Given the description of an element on the screen output the (x, y) to click on. 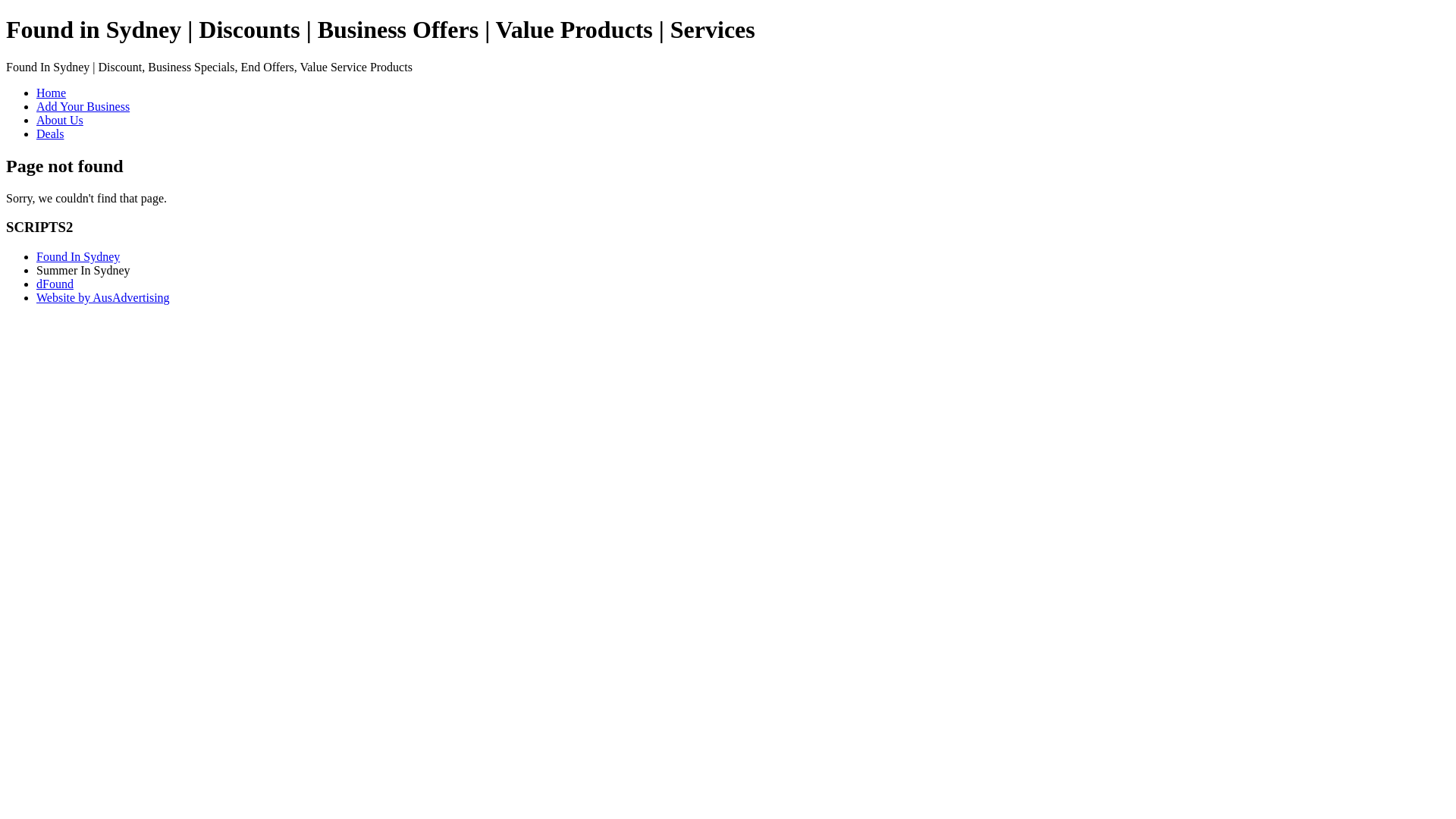
Add Your Business Element type: text (82, 106)
Deals Element type: text (49, 133)
Website by AusAdvertising Element type: text (102, 297)
About Us Element type: text (59, 119)
dFound Element type: text (54, 283)
Home Element type: text (50, 92)
Found In Sydney Element type: text (77, 256)
